Given the description of an element on the screen output the (x, y) to click on. 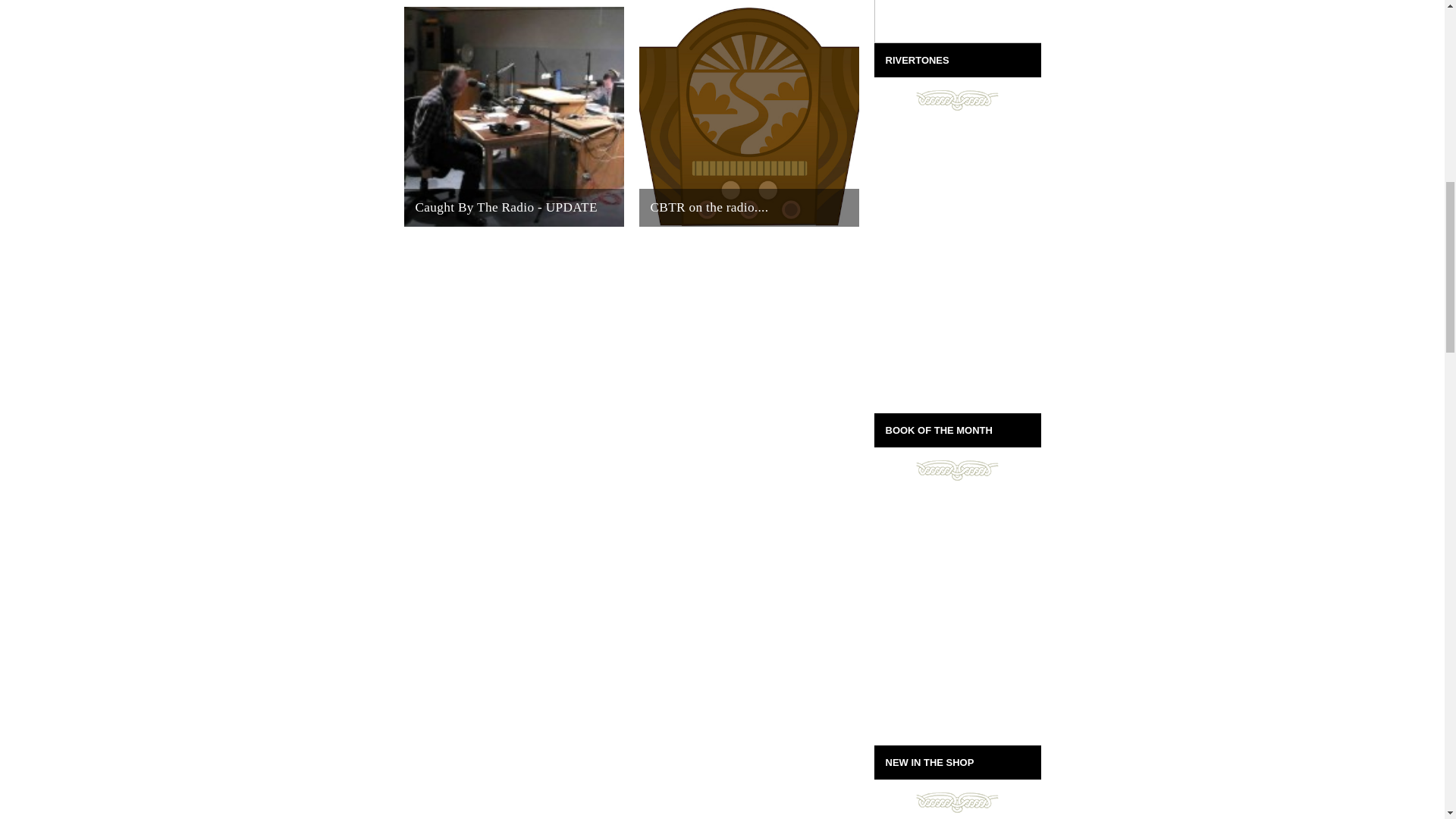
CBTR on the radio.... (749, 116)
CBTR on the radio.... (749, 116)
Caught By The Radio - UPDATE (513, 116)
Caught By The Radio - UPDATE (513, 116)
